Given the description of an element on the screen output the (x, y) to click on. 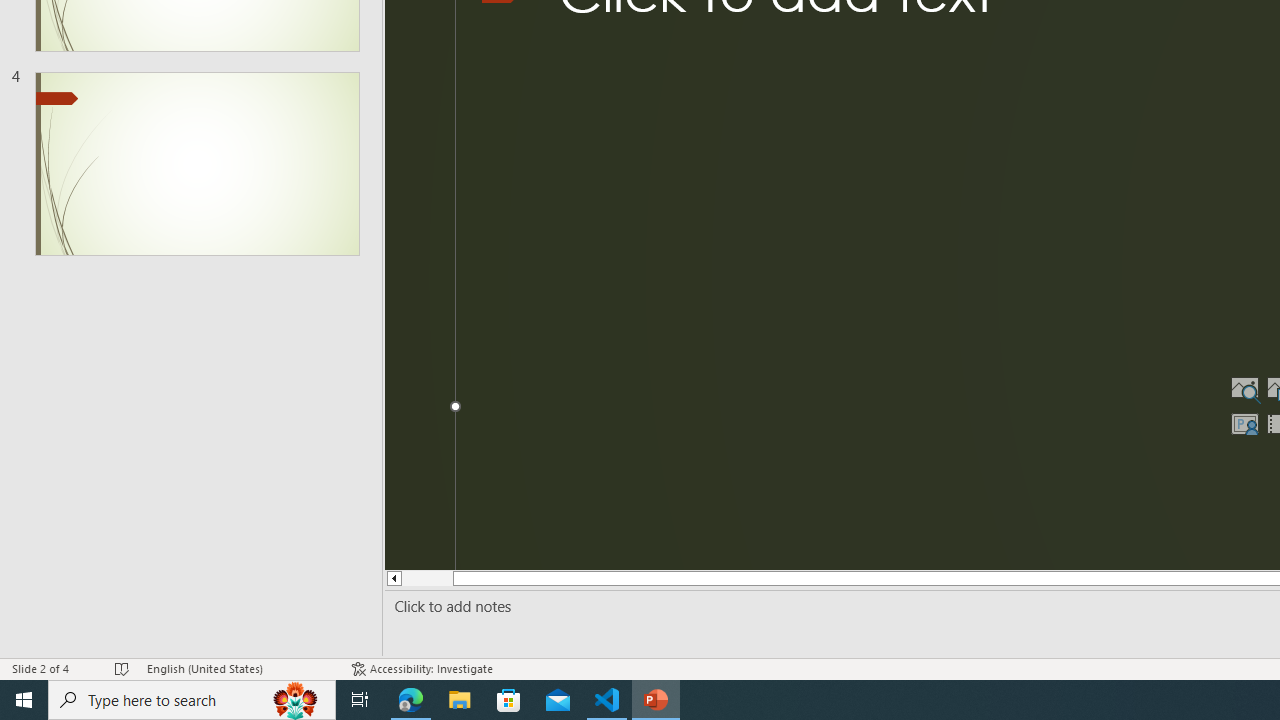
Insert Cameo (1244, 423)
Stock Images (1244, 387)
